Given the description of an element on the screen output the (x, y) to click on. 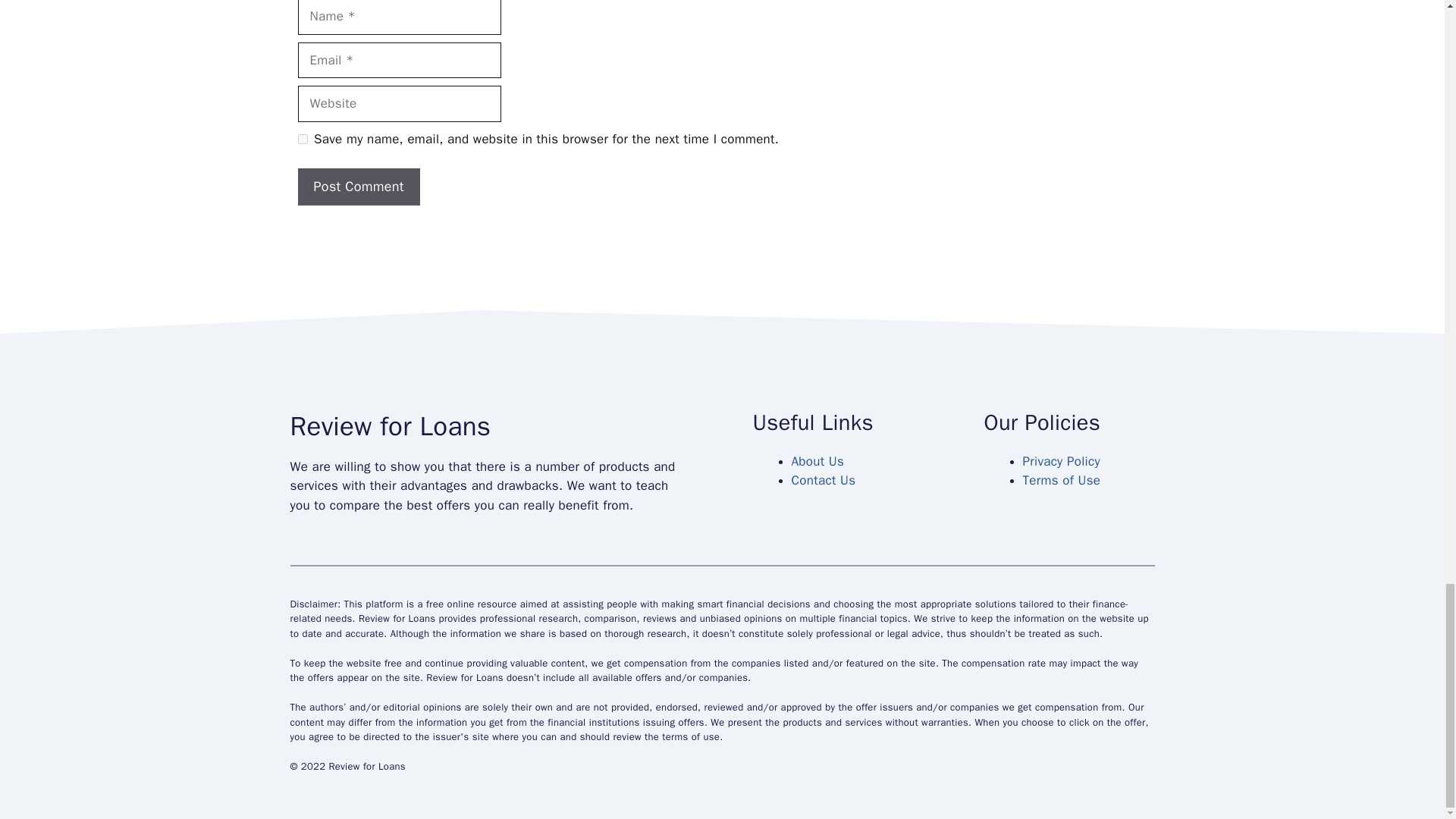
Post Comment (358, 186)
Privacy Policy (1060, 461)
About Us (818, 461)
Contact Us (824, 480)
Post Comment (358, 186)
Terms of Use (1061, 480)
yes (302, 139)
